Given the description of an element on the screen output the (x, y) to click on. 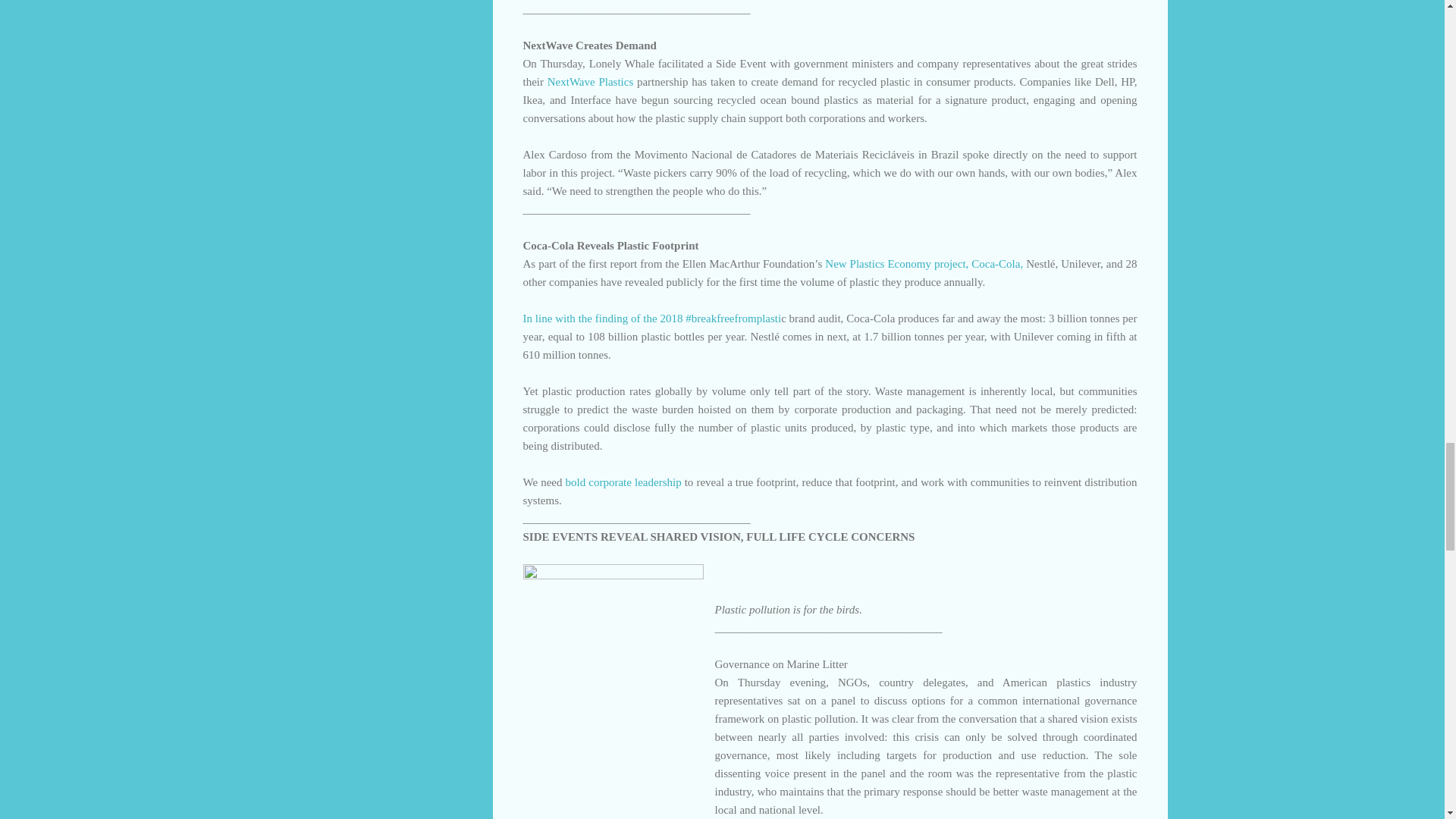
NextWave Plastics (590, 81)
bold corporate leadership (623, 481)
New Plastics Economy project, Coca-Cola, (925, 263)
